Given the description of an element on the screen output the (x, y) to click on. 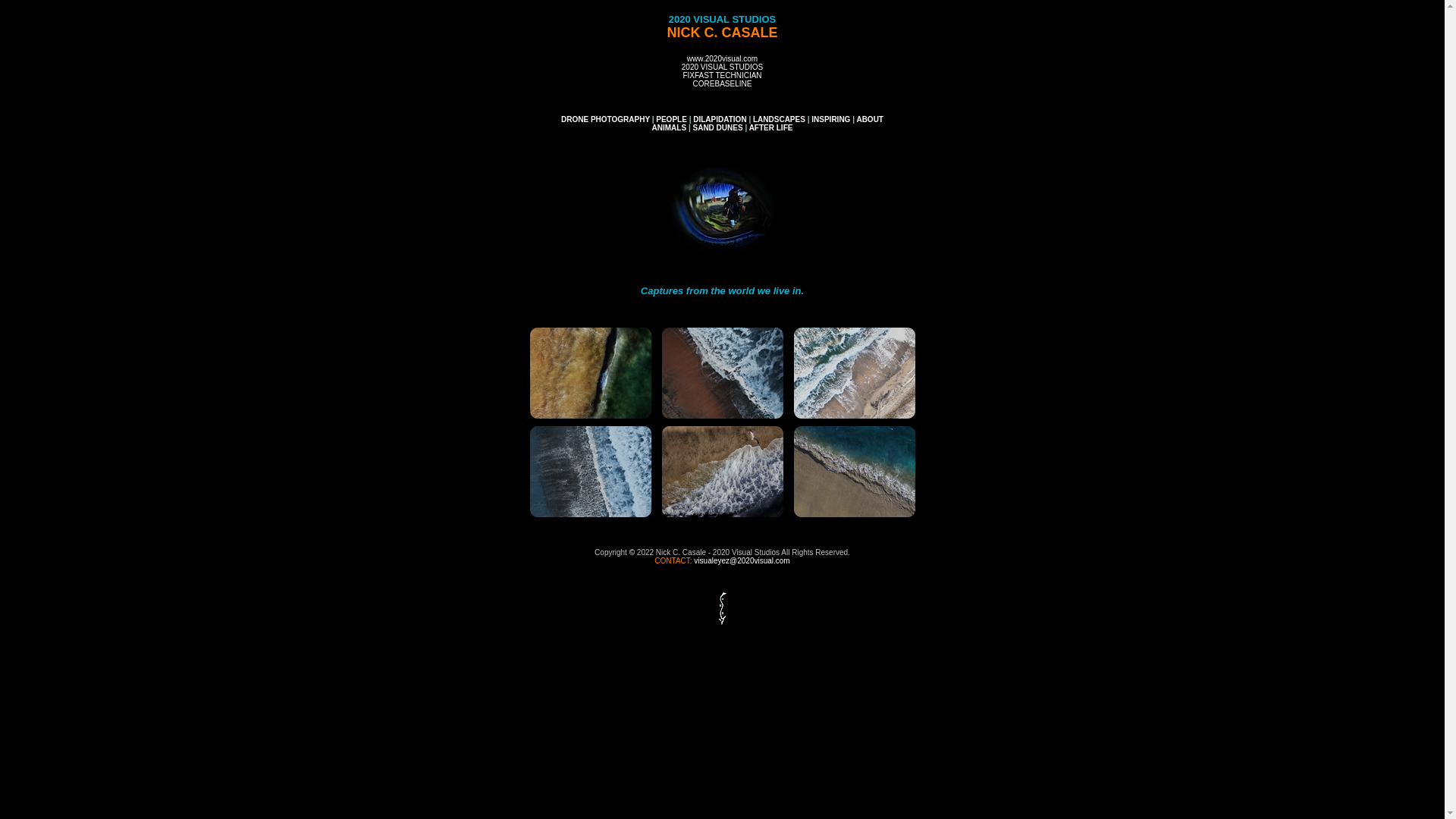
INSPIRING Element type: text (830, 119)
www.2020visual.com Element type: text (722, 58)
SAND DUNES Element type: text (718, 127)
DILAPIDATION Element type: text (719, 119)
AFTER LIFE Element type: text (771, 127)
. Element type: hover (721, 471)
. Element type: hover (853, 372)
. Element type: hover (589, 372)
FIXFAST TECHNICIAN Element type: text (721, 75)
. Element type: hover (721, 372)
DRONE PHOTOGRAPHY Element type: text (605, 119)
2020 VISUAL STUDIOS Element type: text (721, 66)
visualeyez@2020visual.com Element type: text (741, 560)
ANIMALS Element type: text (669, 127)
PEOPLE Element type: text (671, 119)
. Element type: hover (589, 471)
. Element type: hover (853, 471)
NICK C. CASALE Element type: text (721, 32)
ABOUT Element type: text (869, 119)
COREBASELINE Element type: text (722, 83)
LANDSCAPES Element type: text (779, 119)
